Given the description of an element on the screen output the (x, y) to click on. 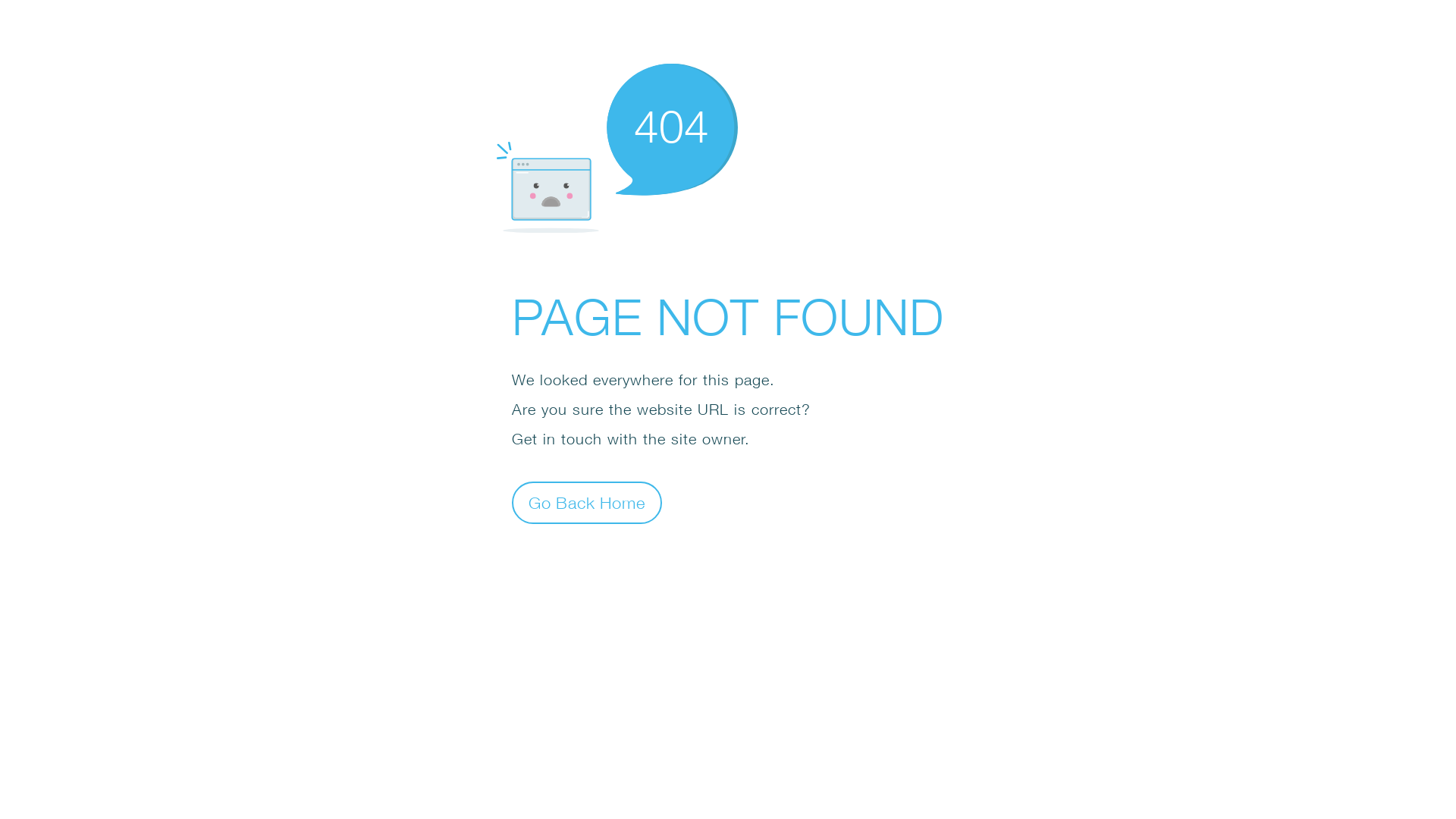
Go Back Home Element type: text (586, 502)
